Given the description of an element on the screen output the (x, y) to click on. 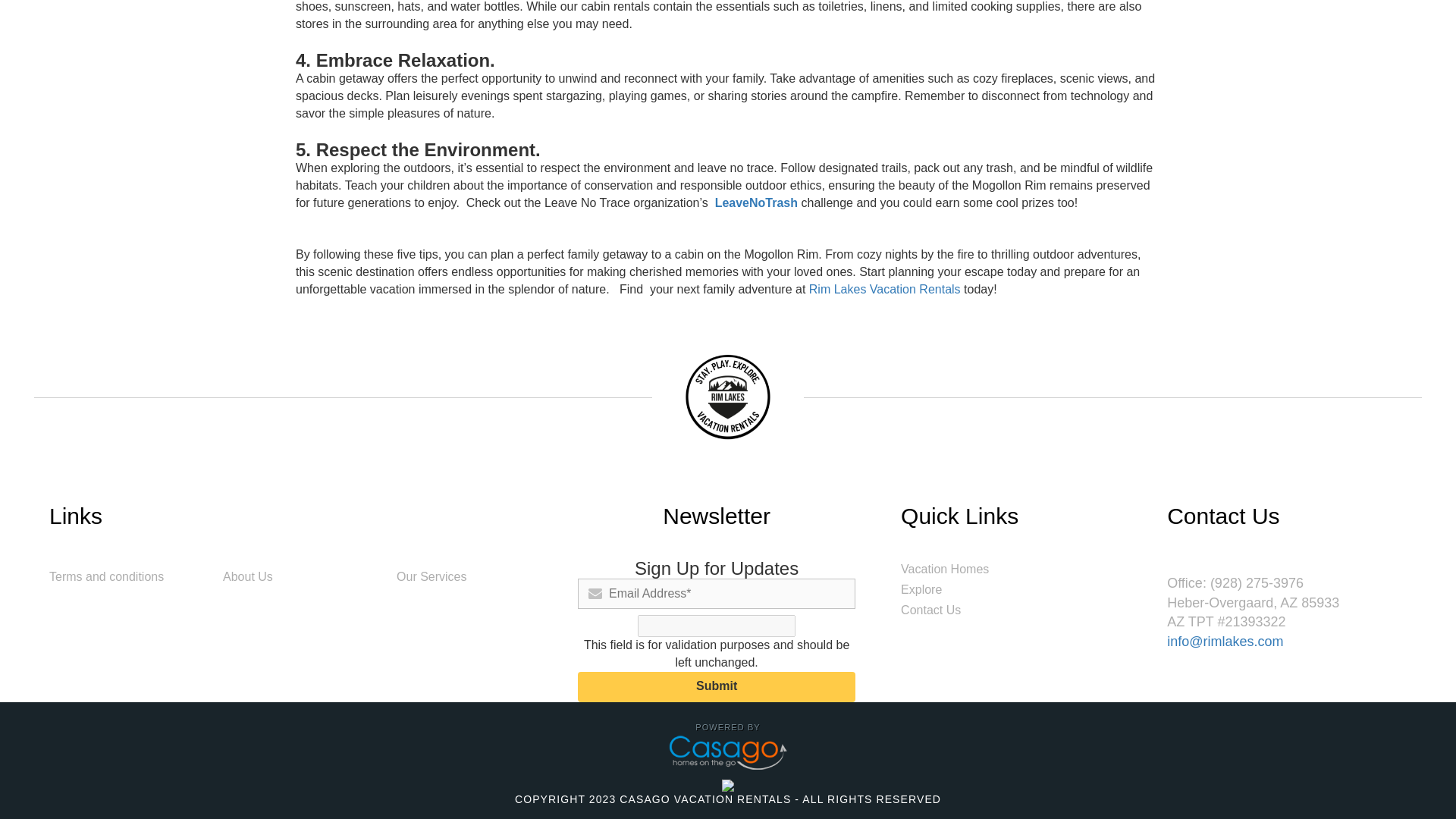
Vacation Homes (944, 568)
Submit (717, 686)
Terms and conditions (106, 576)
LeaveNoTrash (755, 202)
Explore (921, 589)
Contact Us (930, 609)
Submit (717, 686)
About Us (247, 576)
Rim Lakes Vacation Rentals (884, 288)
Our Services (430, 576)
